Given the description of an element on the screen output the (x, y) to click on. 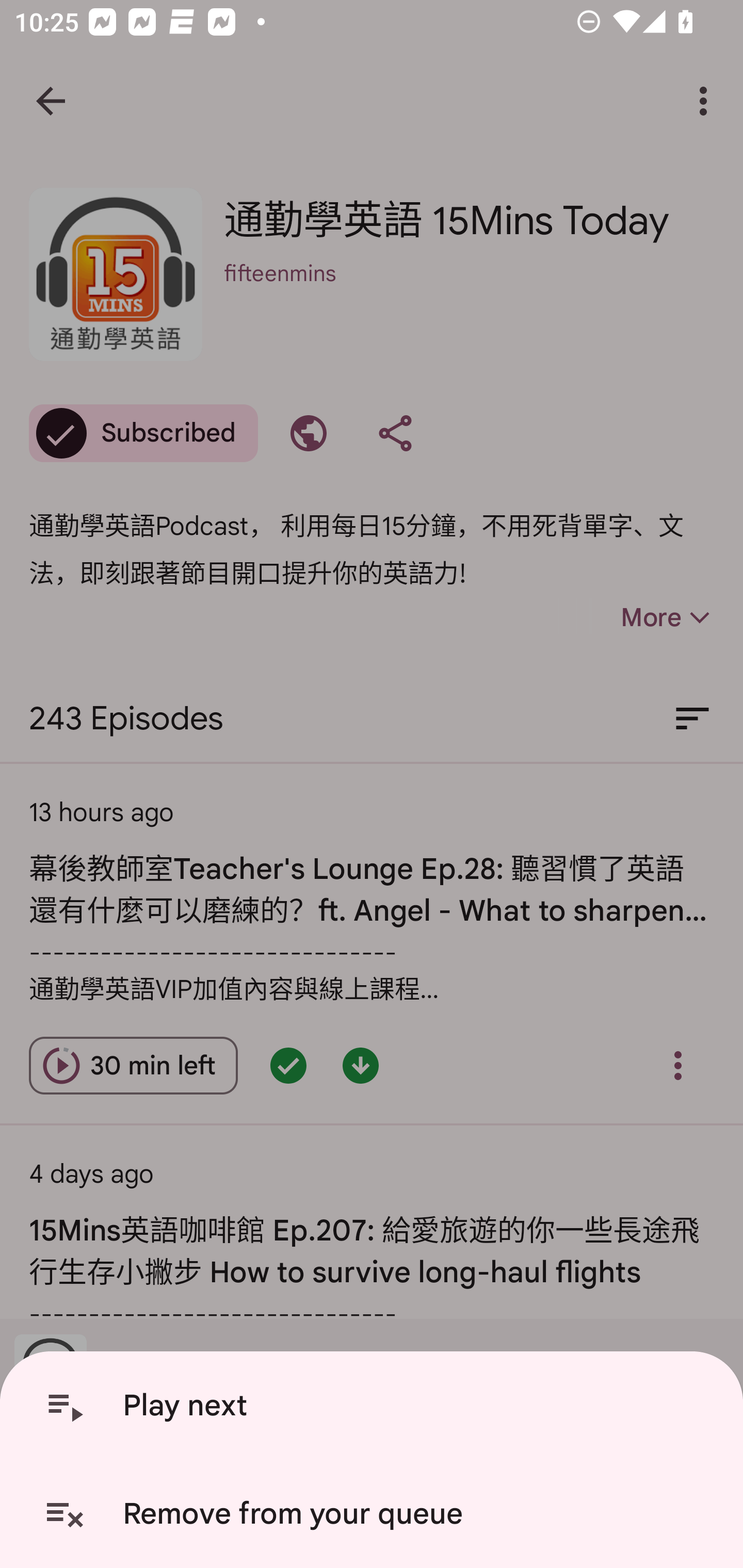
Play next (375, 1405)
Remove from your queue (375, 1513)
